Given the description of an element on the screen output the (x, y) to click on. 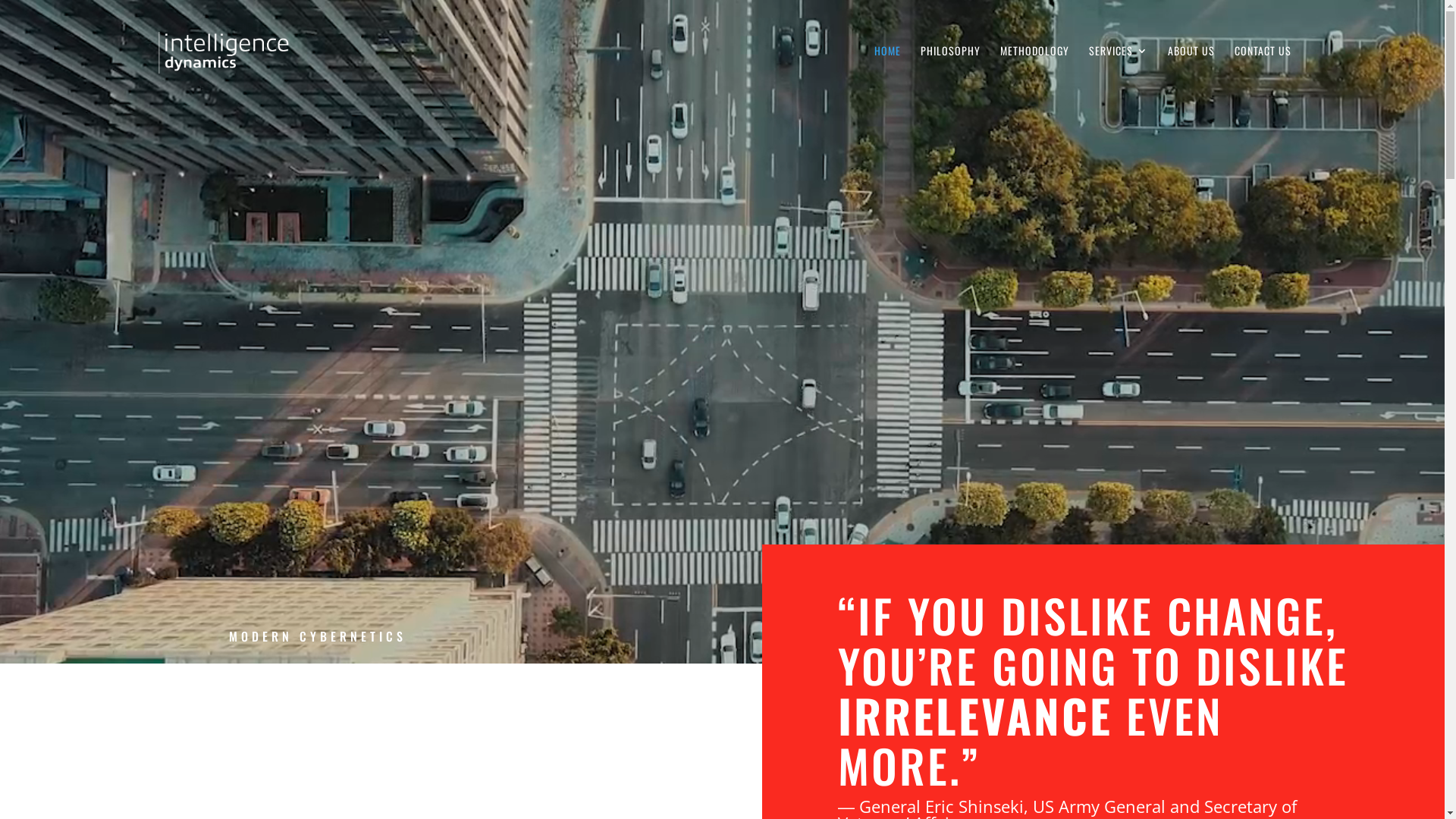
PHILOSOPHY Element type: text (950, 73)
ABOUT US Element type: text (1190, 73)
CONTACT US Element type: text (1262, 73)
SERVICES Element type: text (1118, 73)
HOME Element type: text (886, 73)
MODERN CYBERNETICS Element type: text (317, 636)
METHODOLOGY Element type: text (1033, 73)
